Given the description of an element on the screen output the (x, y) to click on. 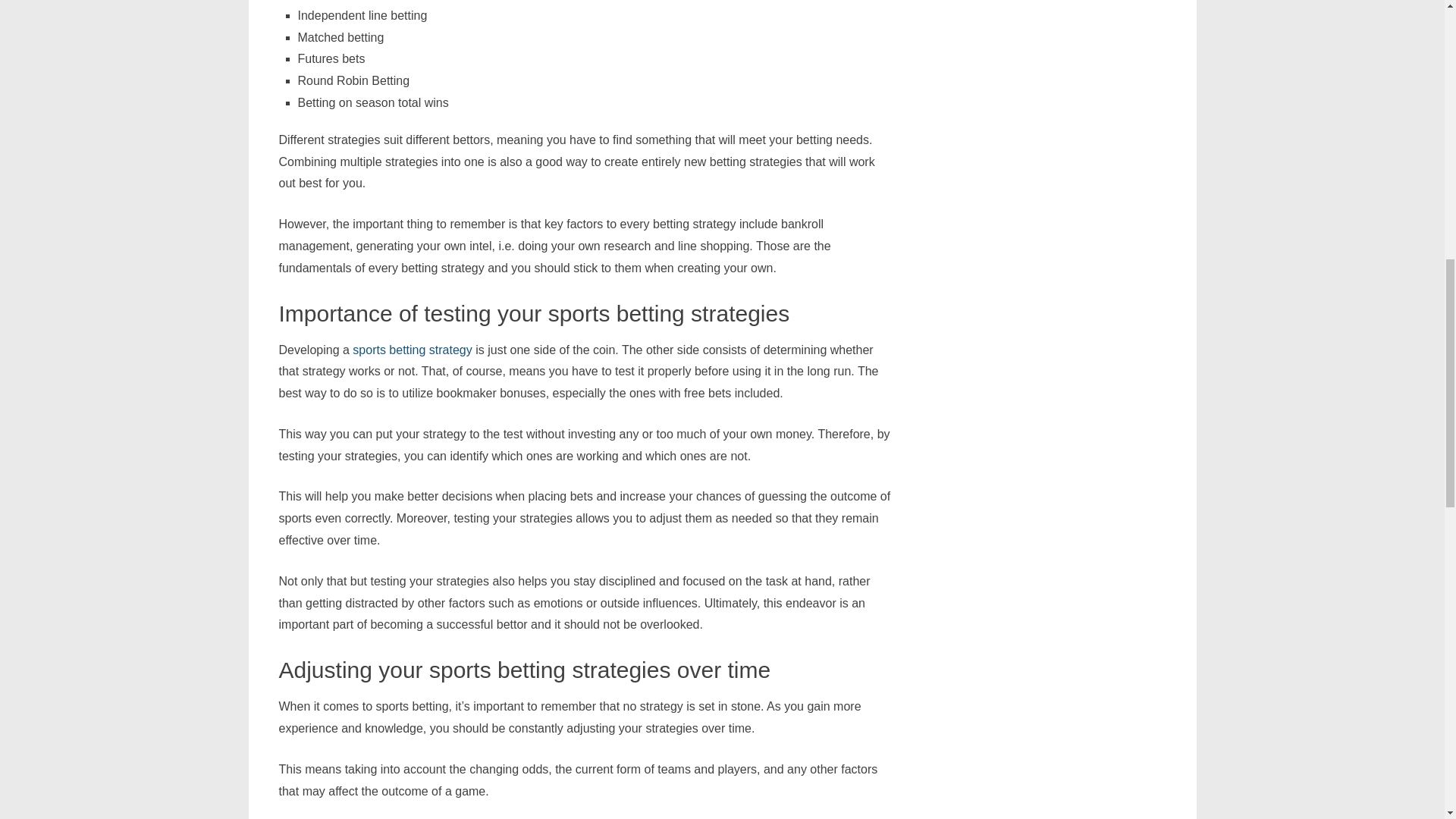
sports betting strategy (411, 349)
